Given the description of an element on the screen output the (x, y) to click on. 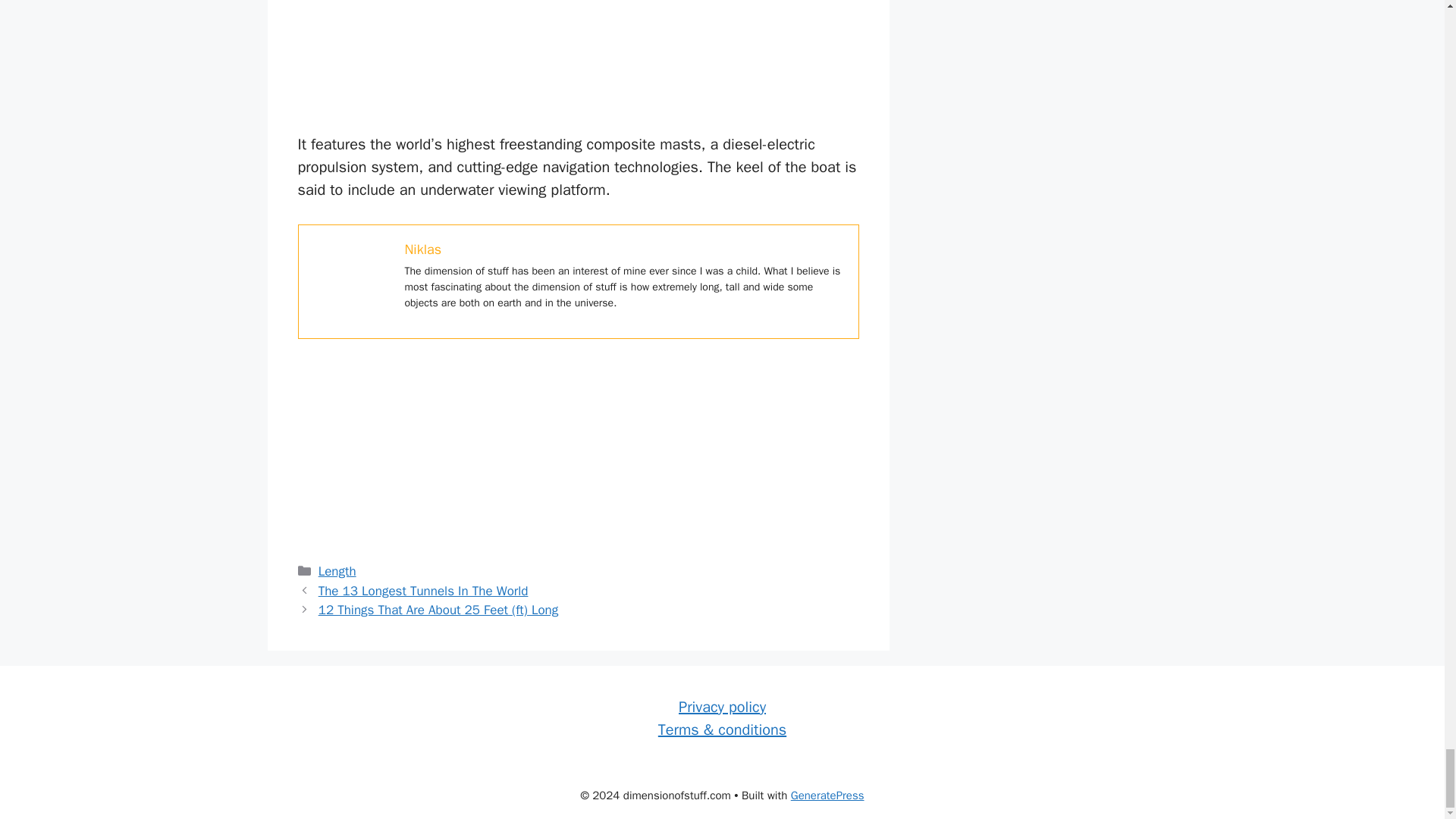
The 13 Longest Tunnels In The World (423, 590)
Niklas (423, 248)
GeneratePress (827, 795)
Privacy policy (721, 706)
Length (337, 571)
